Given the description of an element on the screen output the (x, y) to click on. 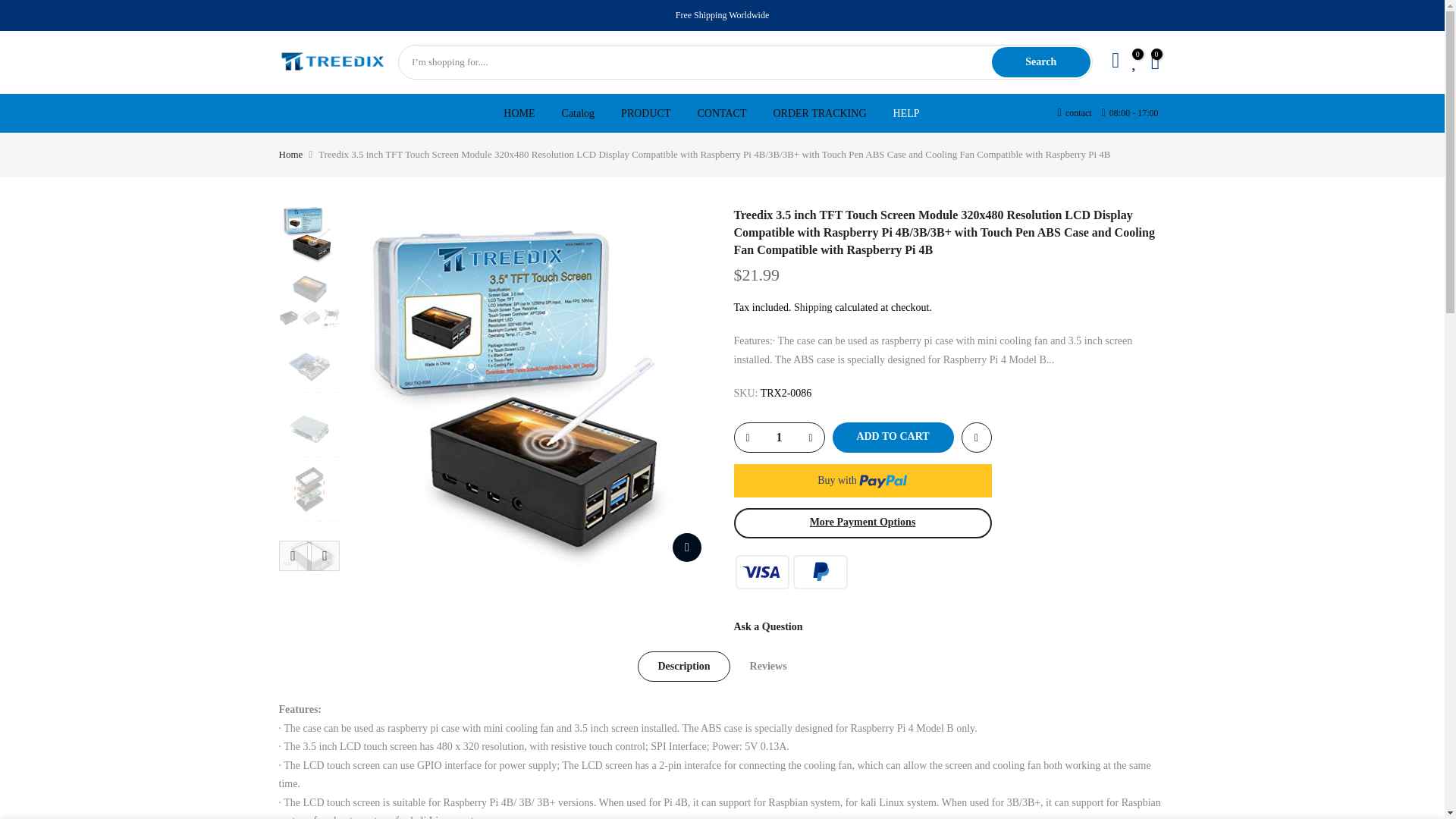
Reviews (768, 666)
PRODUCT (646, 113)
CONTACT (722, 113)
Description (683, 666)
ORDER TRACKING (819, 113)
Shipping (812, 307)
More Payment Options (862, 522)
08:00 - 17:00 (1130, 113)
ADD TO CART (892, 437)
contact (1075, 113)
Catalog (578, 113)
HOME (519, 113)
Ask a Question (768, 626)
Search (1040, 61)
Home (290, 154)
